Given the description of an element on the screen output the (x, y) to click on. 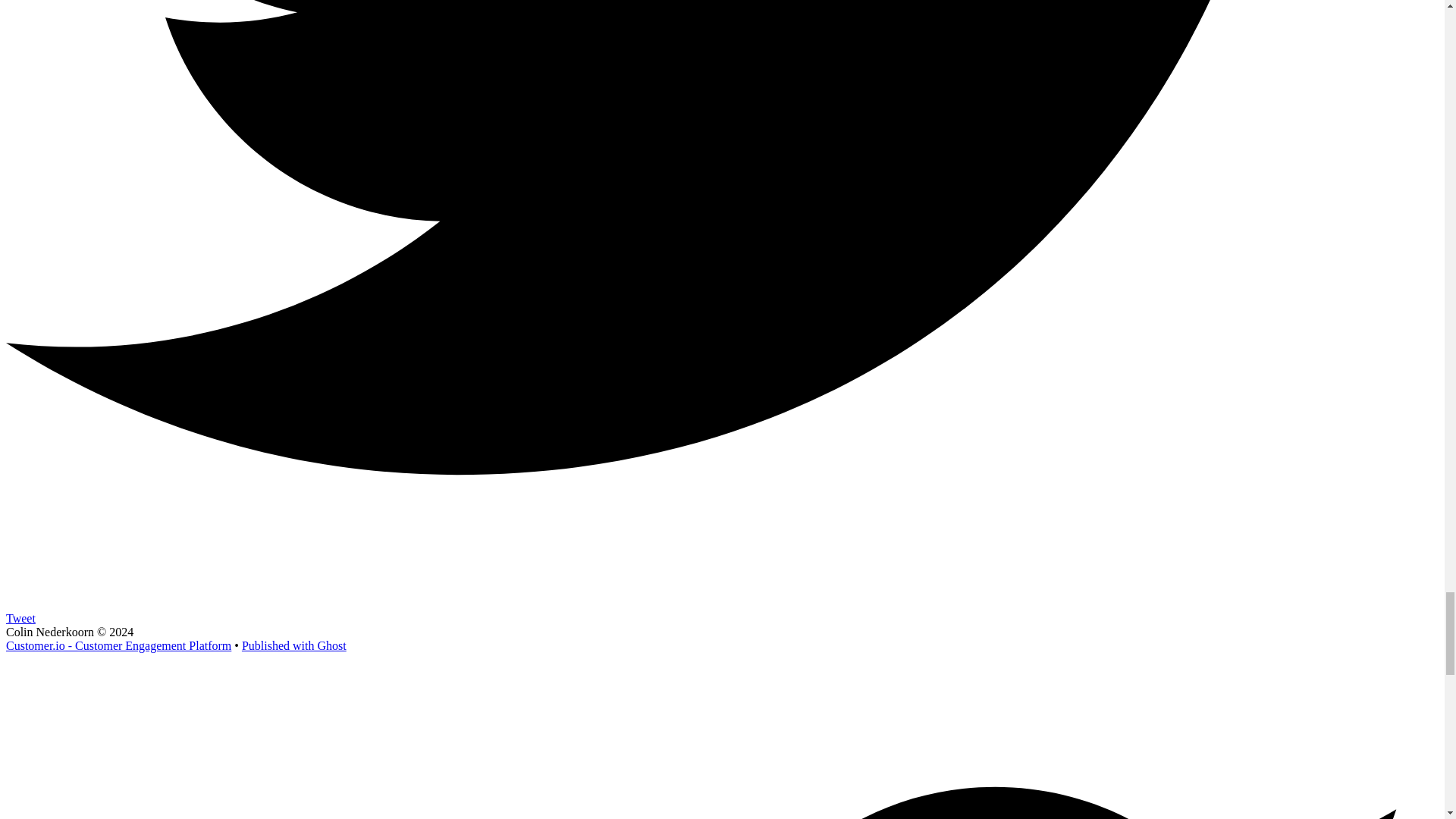
Customer.io - Customer Engagement Platform (118, 645)
Published with Ghost (293, 645)
